Given the description of an element on the screen output the (x, y) to click on. 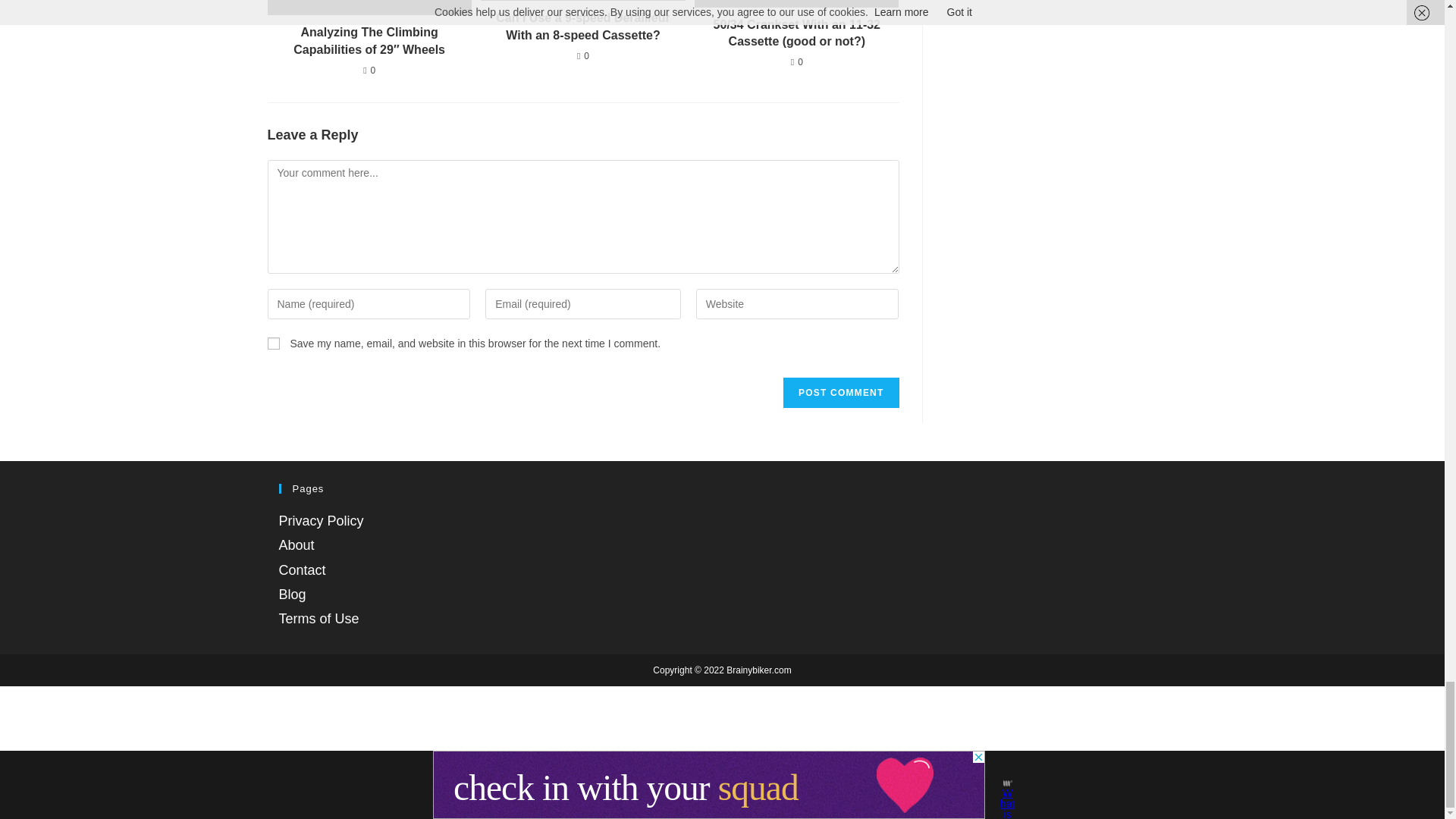
Post Comment (840, 392)
Can I Use a 9-speed Derailleur With an 8-speed Cassette? (582, 26)
Post Comment (840, 392)
yes (272, 343)
